Given the description of an element on the screen output the (x, y) to click on. 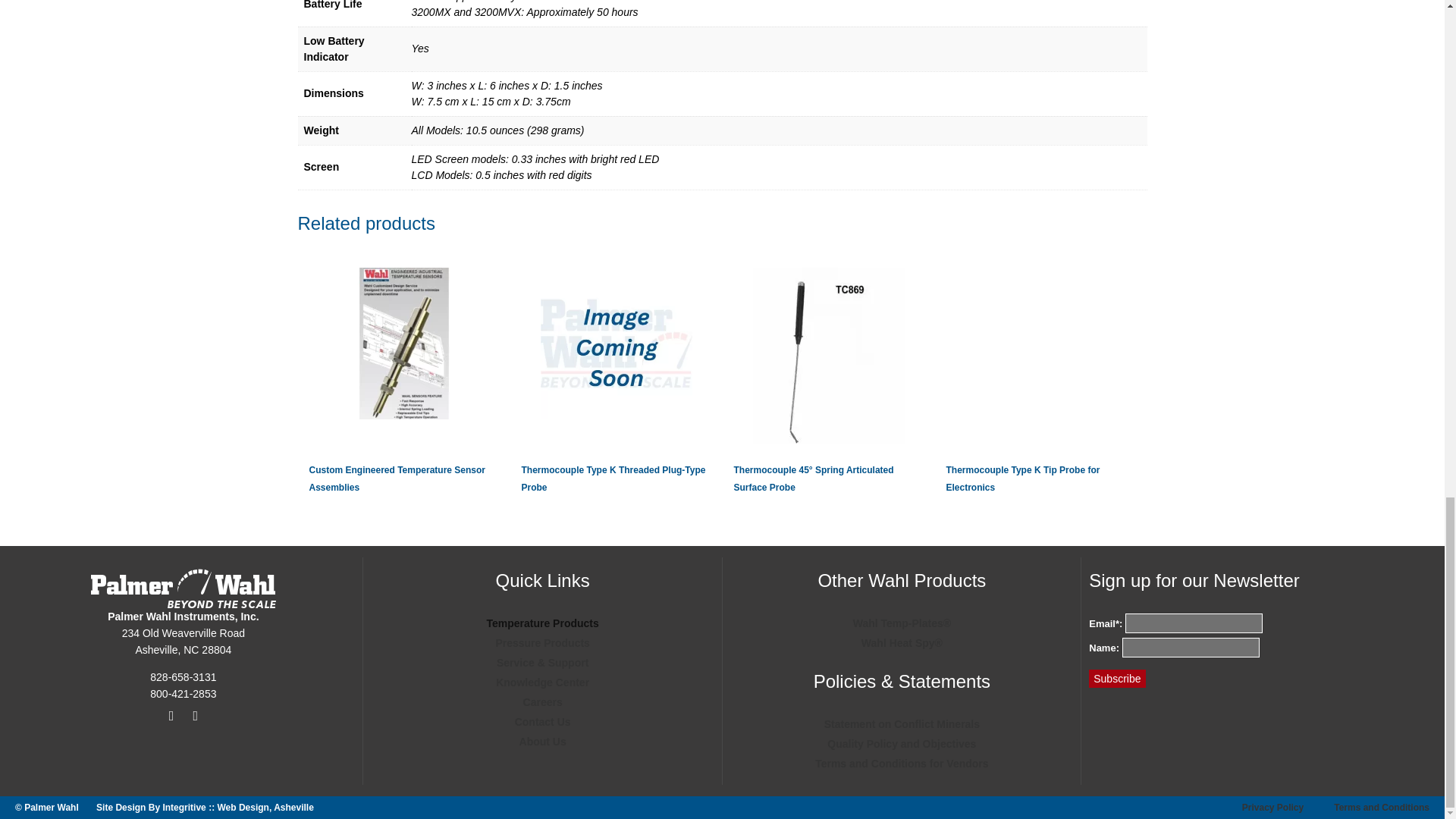
Palmer Wahl Instrument Manufacturing (183, 586)
